Given the description of an element on the screen output the (x, y) to click on. 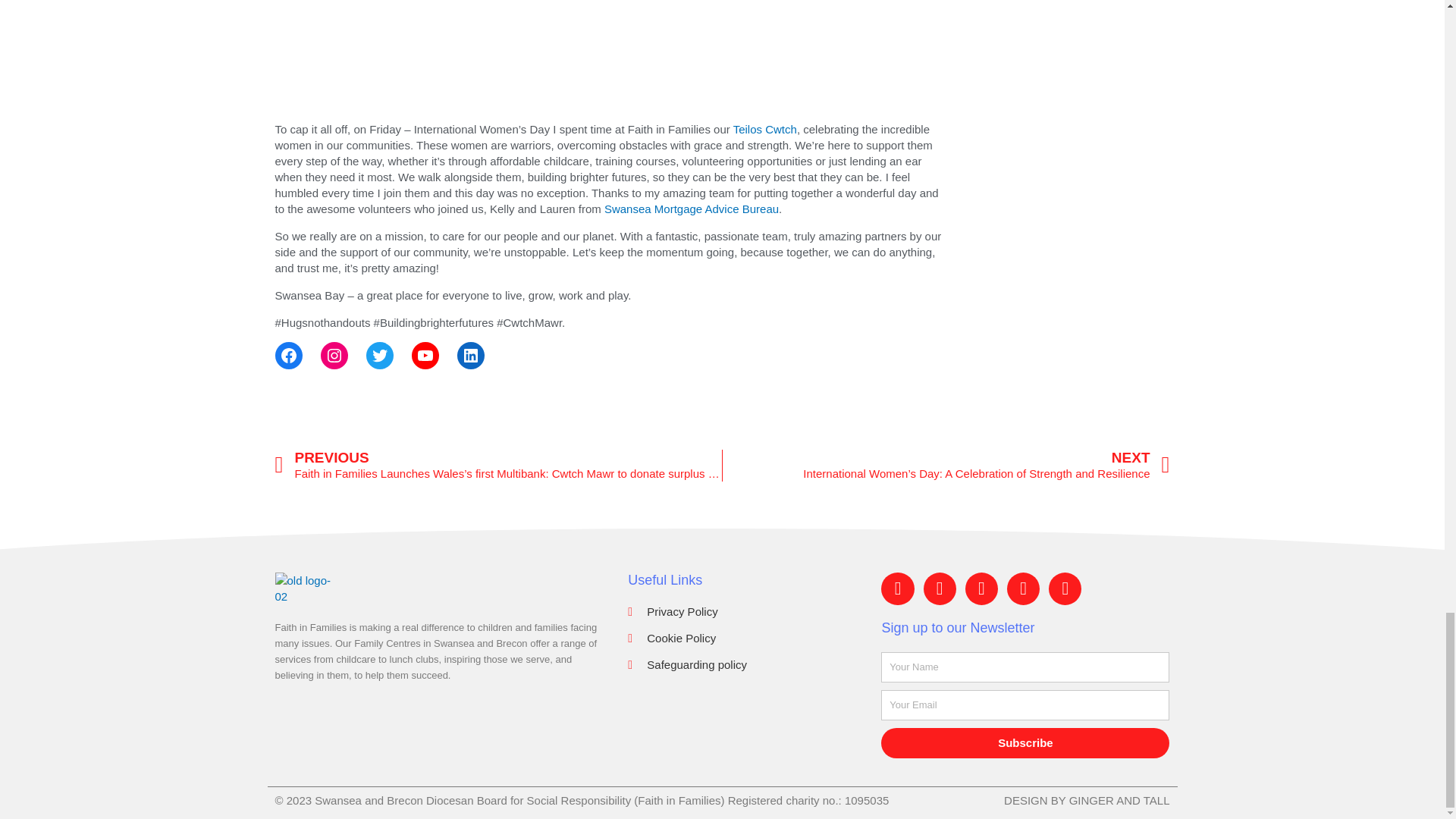
old logo-02 (304, 588)
